Given the description of an element on the screen output the (x, y) to click on. 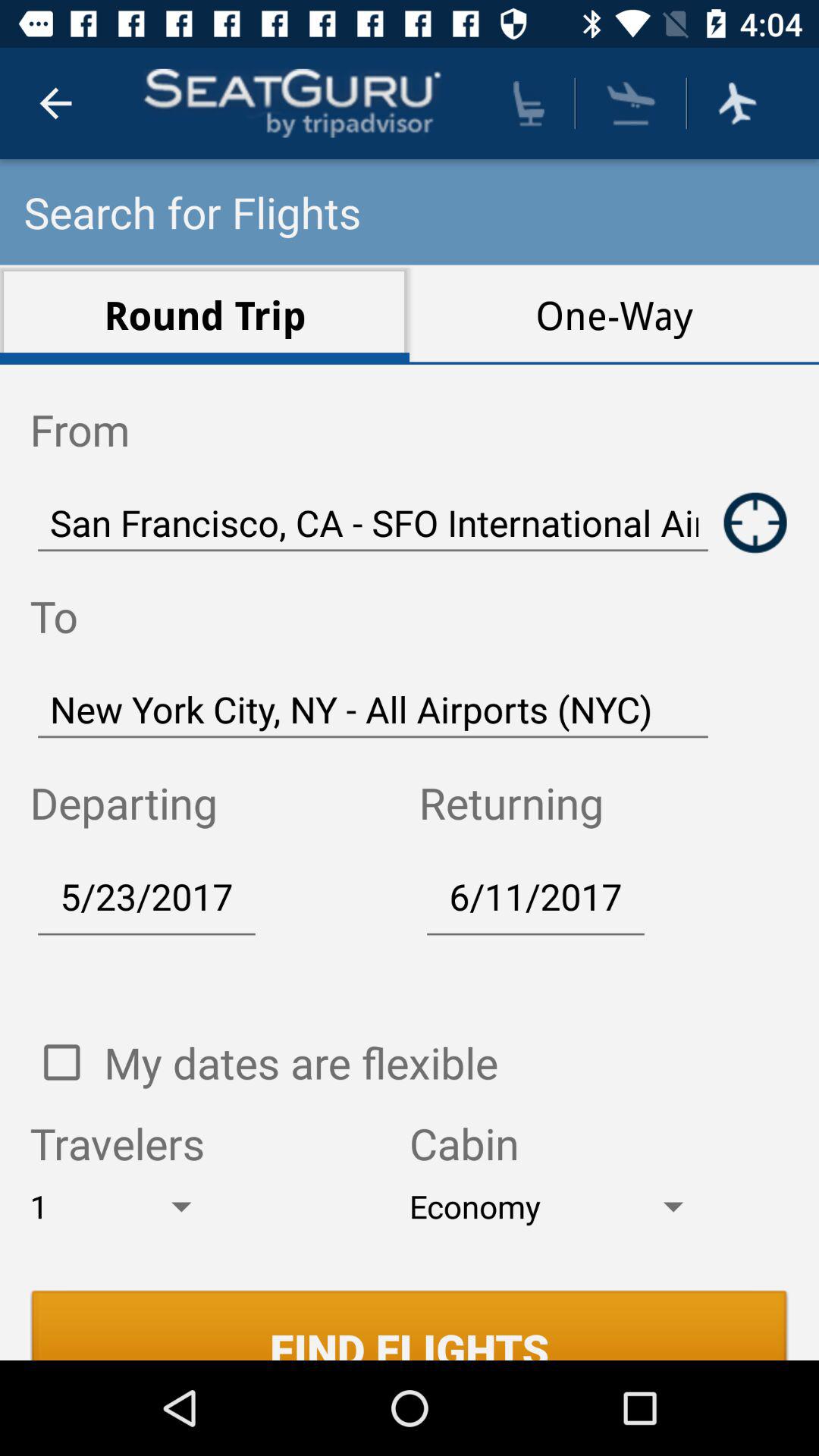
choose the icon above travelers (301, 1062)
